Given the description of an element on the screen output the (x, y) to click on. 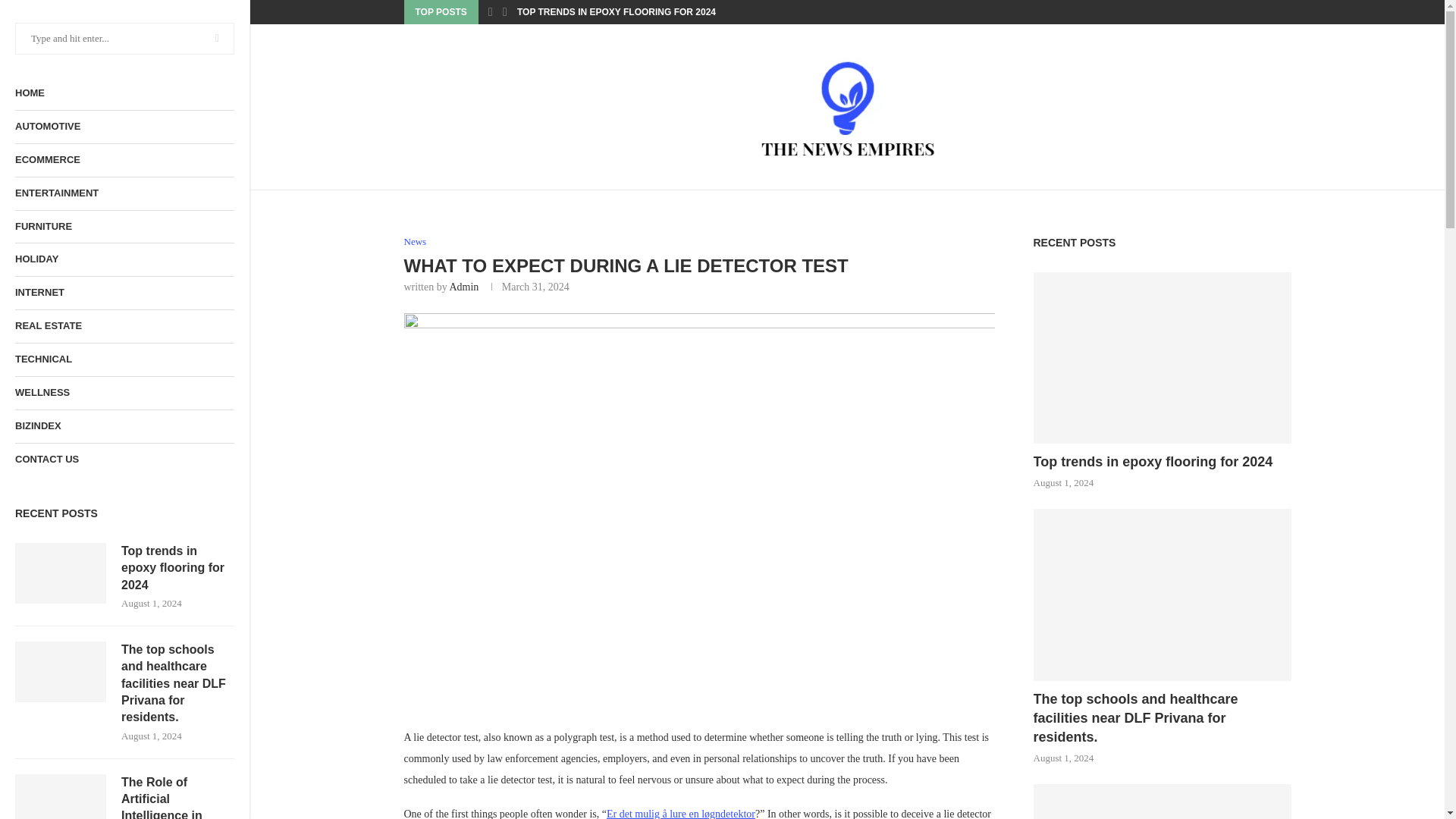
CONTACT US (124, 459)
WELLNESS (124, 392)
Admin (463, 286)
News (414, 241)
Top trends in epoxy flooring for 2024 (177, 567)
HOME (124, 92)
BIZINDEX (124, 426)
TECHNICAL (124, 359)
HOLIDAY (124, 259)
REAL ESTATE (124, 326)
INTERNET (124, 292)
TOP TRENDS IN EPOXY FLOORING FOR 2024 (616, 12)
ECOMMERCE (124, 160)
Top trends in epoxy flooring for 2024 (60, 572)
